Given the description of an element on the screen output the (x, y) to click on. 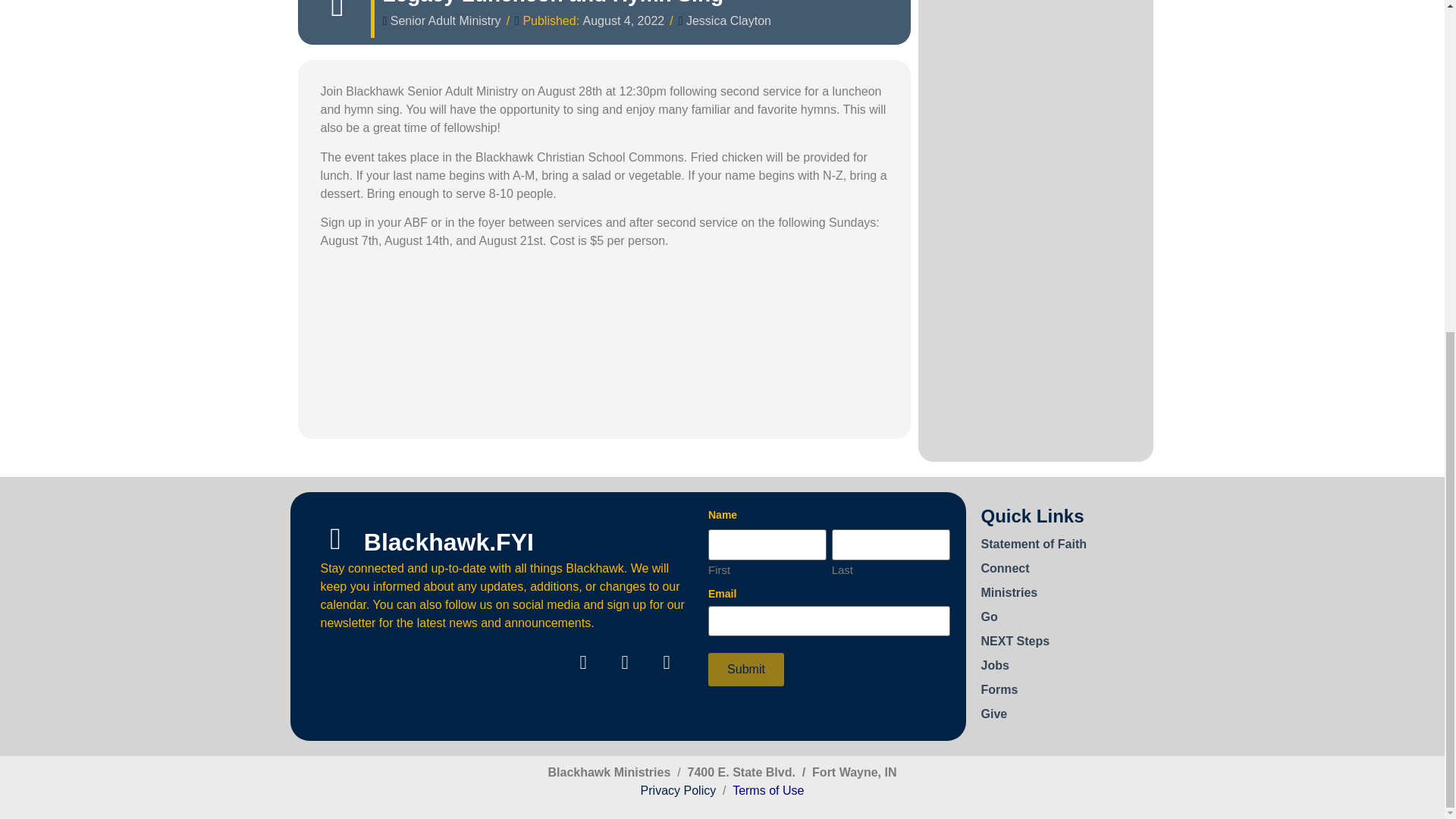
August 4, 2022 (624, 21)
View All posts by Jessica Clayton (728, 21)
3:53 PM (624, 20)
Senior Adult Ministry (445, 21)
Submit (745, 669)
3:53 PM (624, 21)
Jessica Clayton (728, 21)
